Given the description of an element on the screen output the (x, y) to click on. 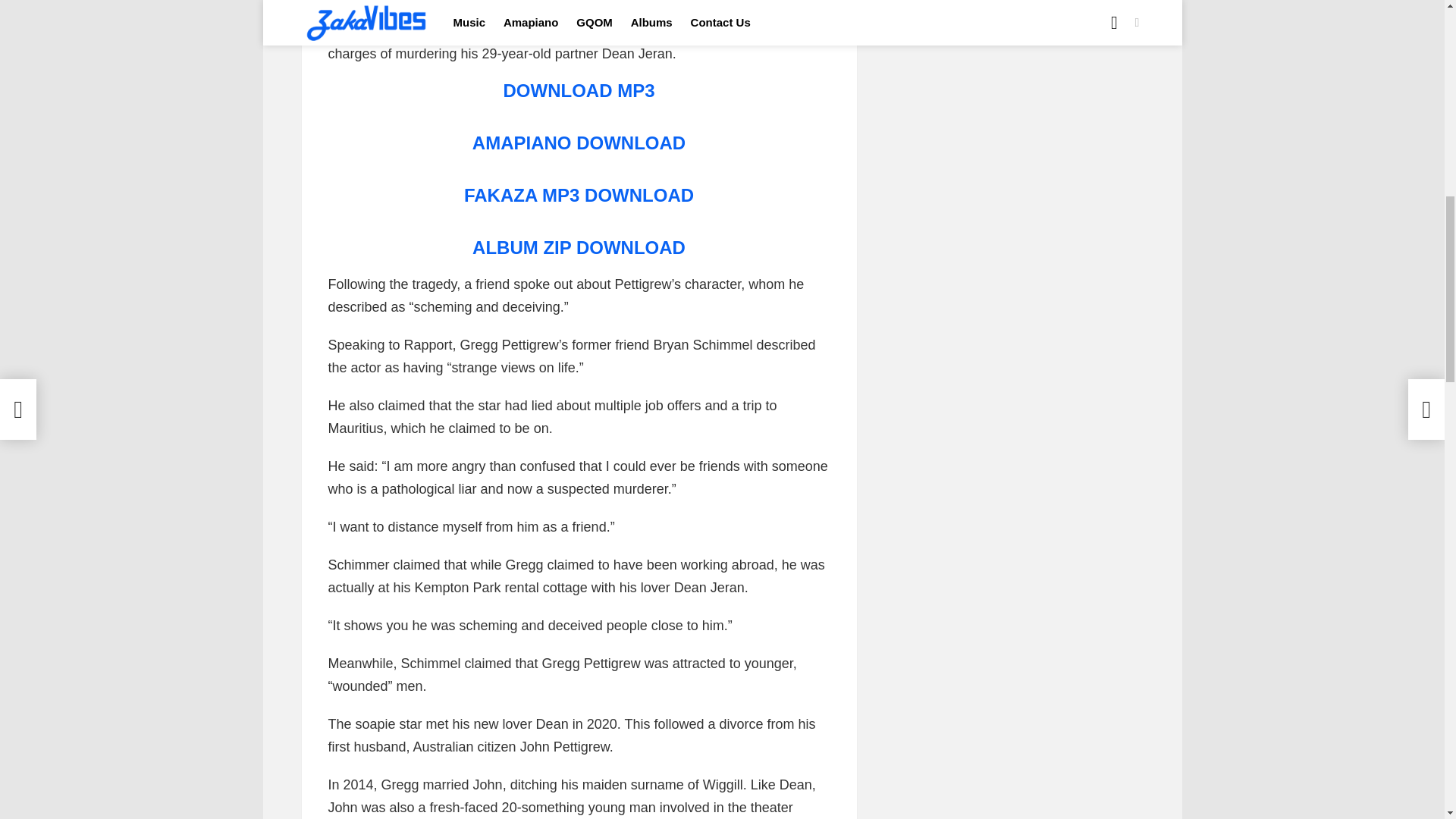
Share (346, 4)
